Given the description of an element on the screen output the (x, y) to click on. 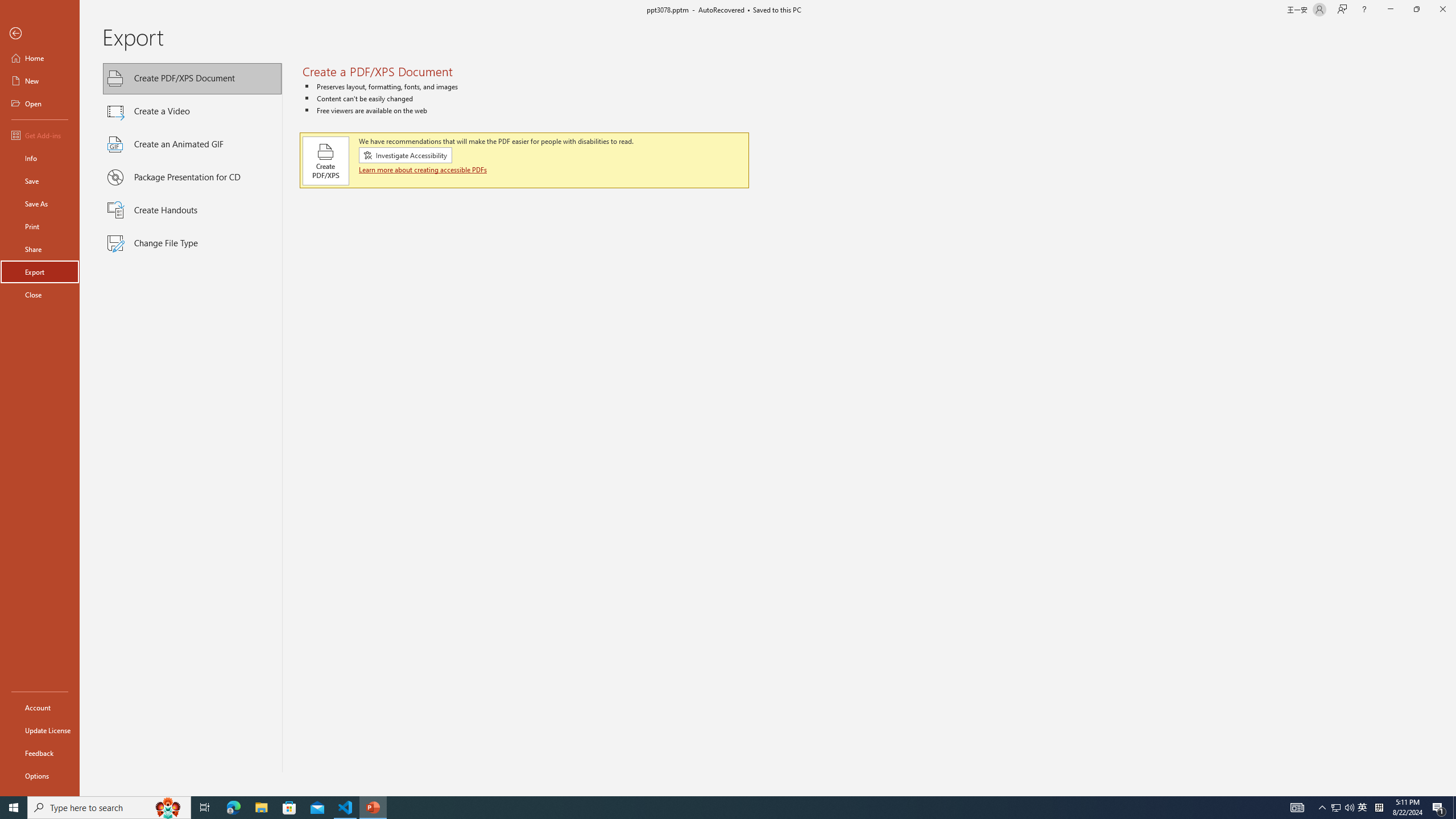
New (40, 80)
Learn more about creating accessible PDFs (423, 169)
Create PDF/XPS (325, 160)
Package Presentation for CD (192, 177)
Update License (40, 730)
Back (40, 33)
Feedback (40, 753)
Info (40, 157)
